Given the description of an element on the screen output the (x, y) to click on. 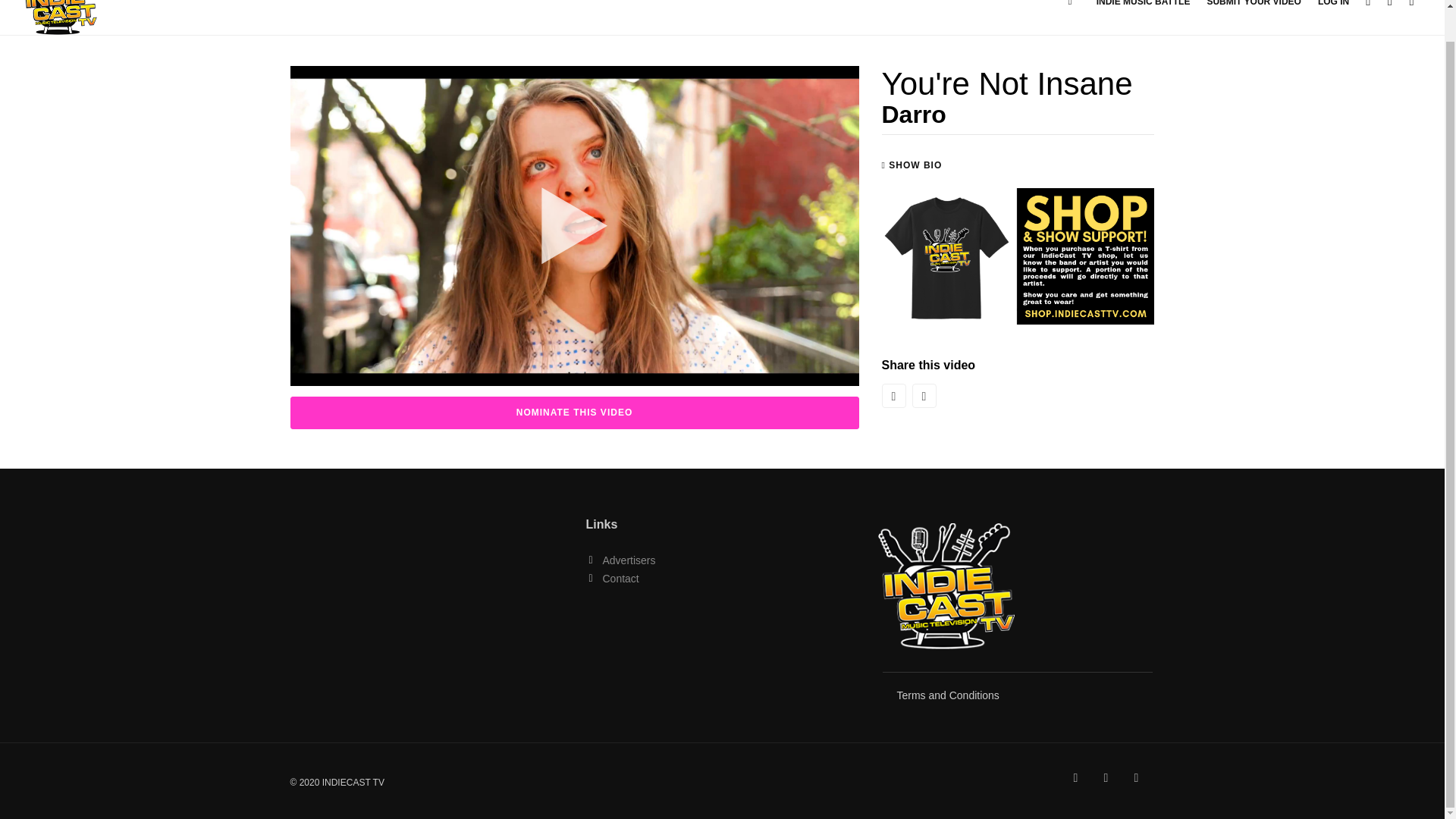
Advertisers (628, 560)
NOMINATE THIS VIDEO (574, 412)
INDIE MUSIC BATTLE (1143, 18)
LOG IN (1333, 18)
Terms and Conditions (947, 695)
SUBMIT YOUR VIDEO (1252, 18)
SHOW BIO (911, 164)
Contact (620, 578)
